Given the description of an element on the screen output the (x, y) to click on. 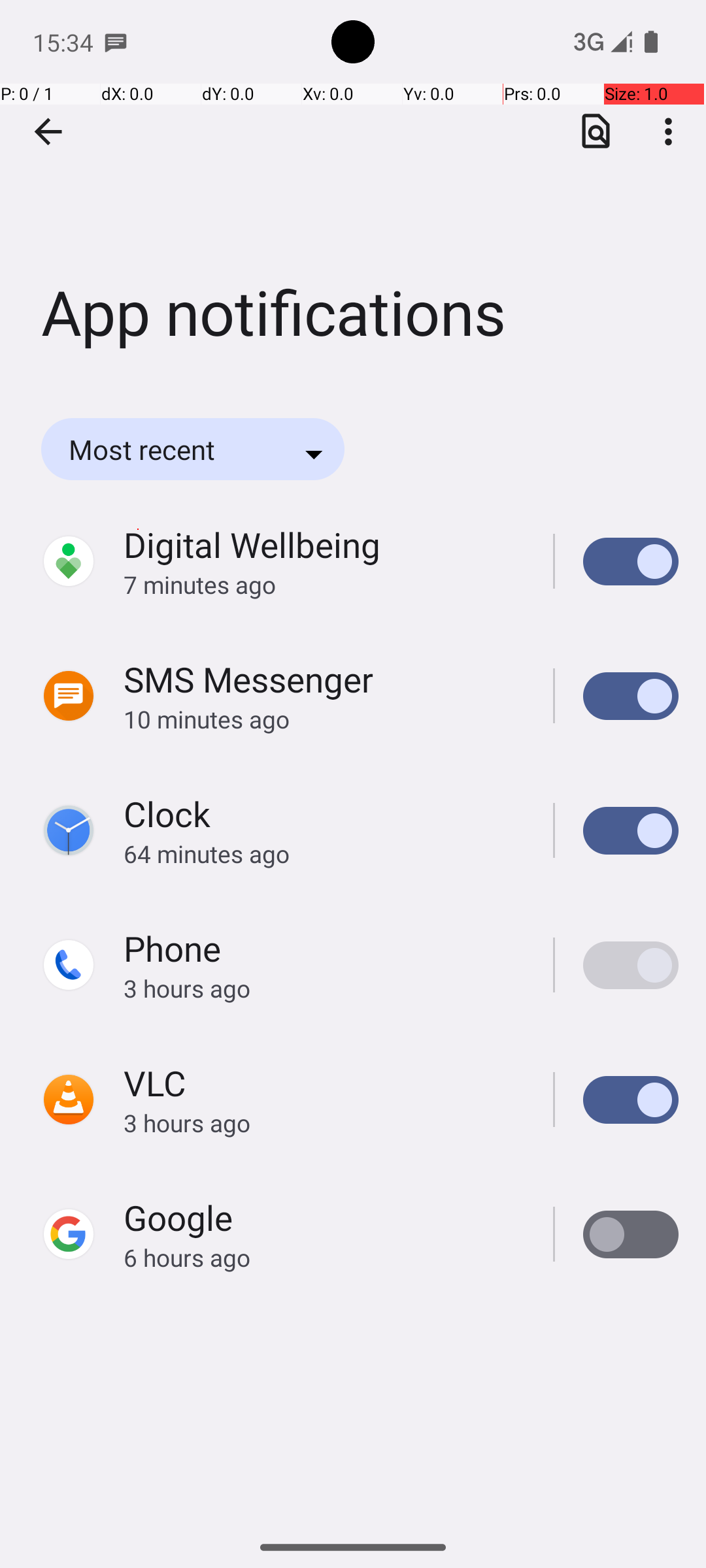
7 minutes ago Element type: android.widget.TextView (324, 584)
10 minutes ago Element type: android.widget.TextView (324, 718)
64 minutes ago Element type: android.widget.TextView (324, 853)
3 hours ago Element type: android.widget.TextView (324, 987)
6 hours ago Element type: android.widget.TextView (324, 1257)
